Given the description of an element on the screen output the (x, y) to click on. 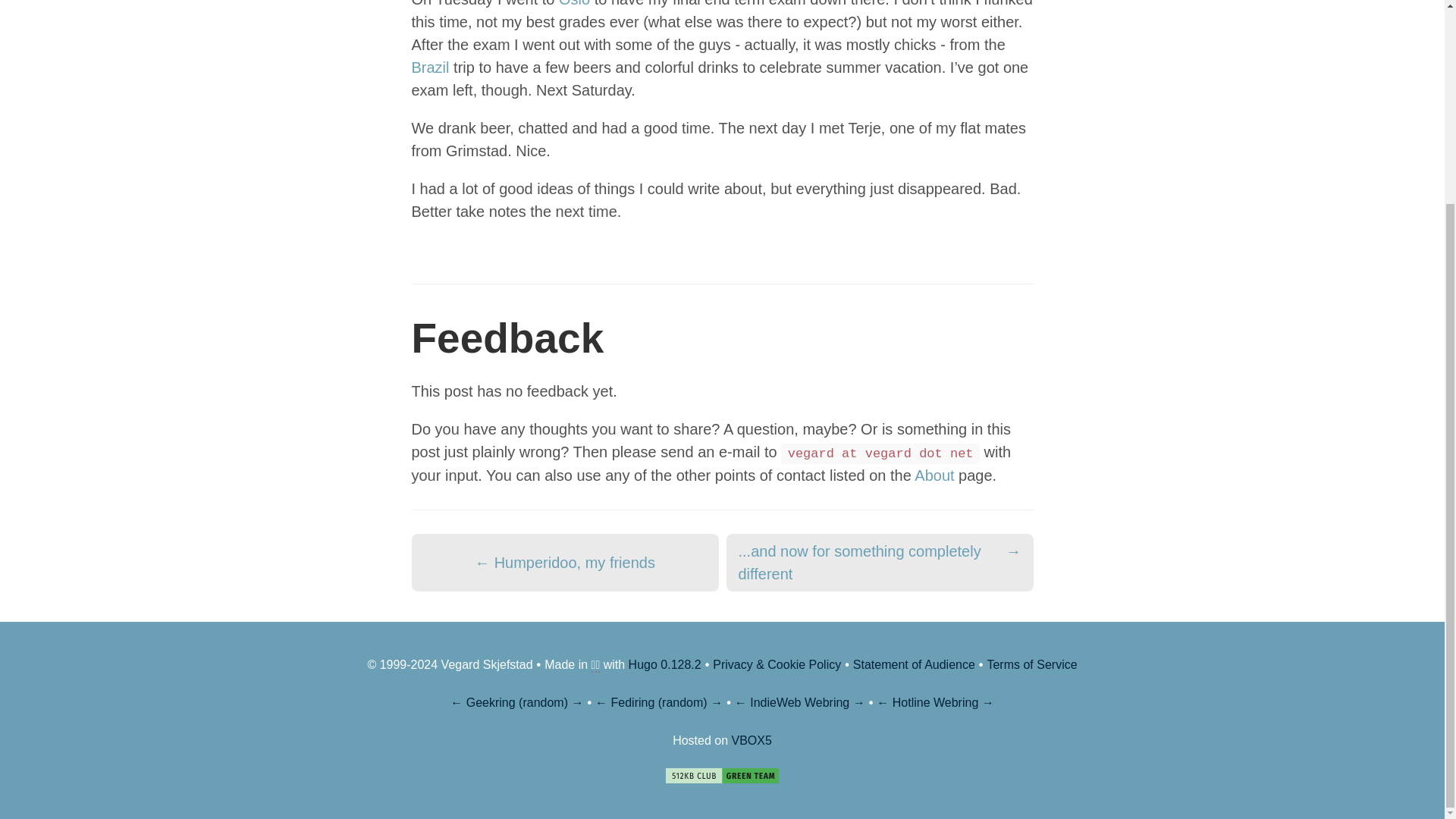
About (933, 475)
Oslo (574, 3)
Hotline Webring (935, 702)
Geekring (490, 702)
Fediring (633, 702)
Brazil (429, 66)
VBOX5 (751, 739)
Proud member of the 512KB Club Green Team. (721, 775)
Terms of Service (1032, 664)
Statement of Audience (914, 664)
IndieWeb Webring (798, 702)
Hugo 0.128.2 (664, 664)
